Given the description of an element on the screen output the (x, y) to click on. 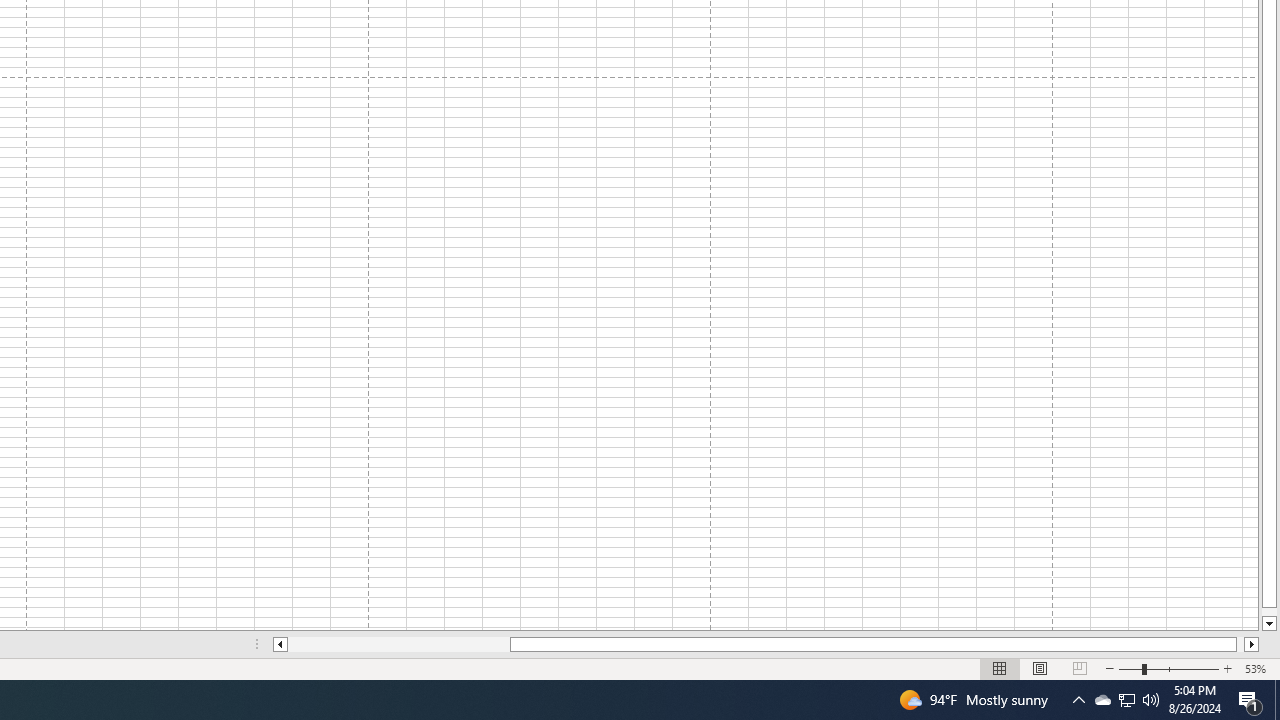
Page left (398, 644)
